Given the description of an element on the screen output the (x, y) to click on. 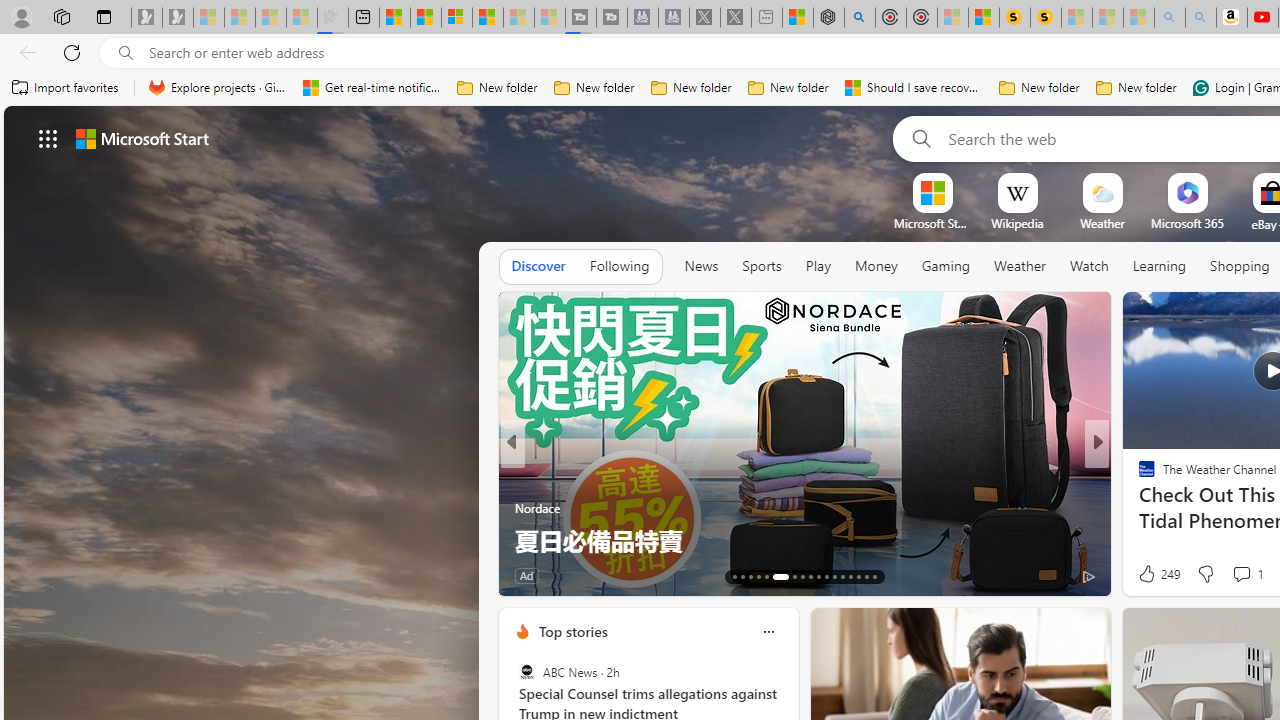
Top stories (572, 631)
amazon - Search - Sleeping (1169, 17)
Discover (538, 267)
Hide this story (442, 315)
FinanceBuzz (1138, 475)
AutomationID: tab-23 (825, 576)
Start the conversation (1229, 574)
Discover (538, 265)
More options (768, 631)
View comments 8 Comment (618, 574)
Tab actions menu (104, 16)
Search (917, 138)
